Given the description of an element on the screen output the (x, y) to click on. 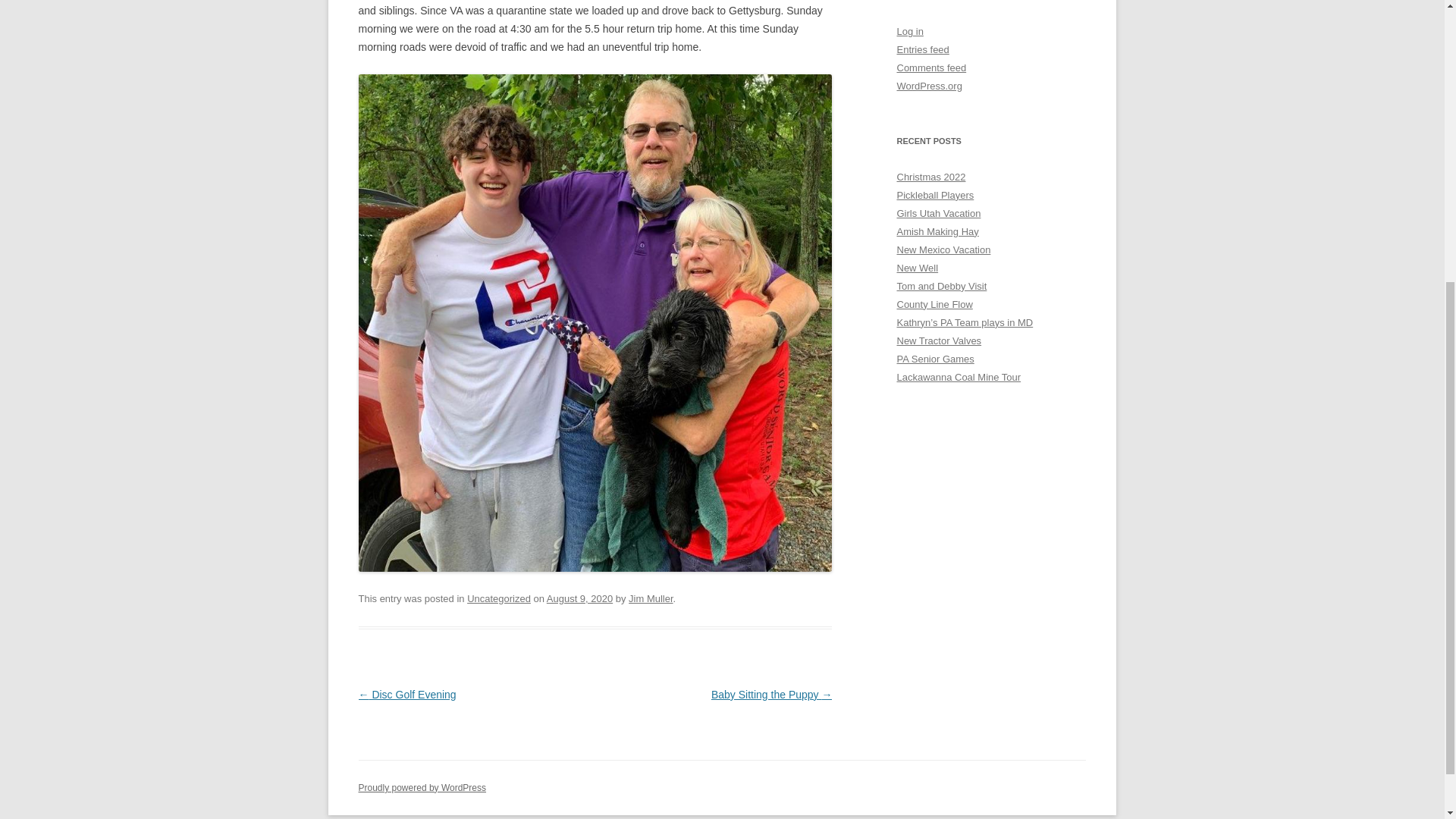
View all posts by Jim Muller (650, 598)
Semantic Personal Publishing Platform (422, 787)
2:02 pm (579, 598)
